Given the description of an element on the screen output the (x, y) to click on. 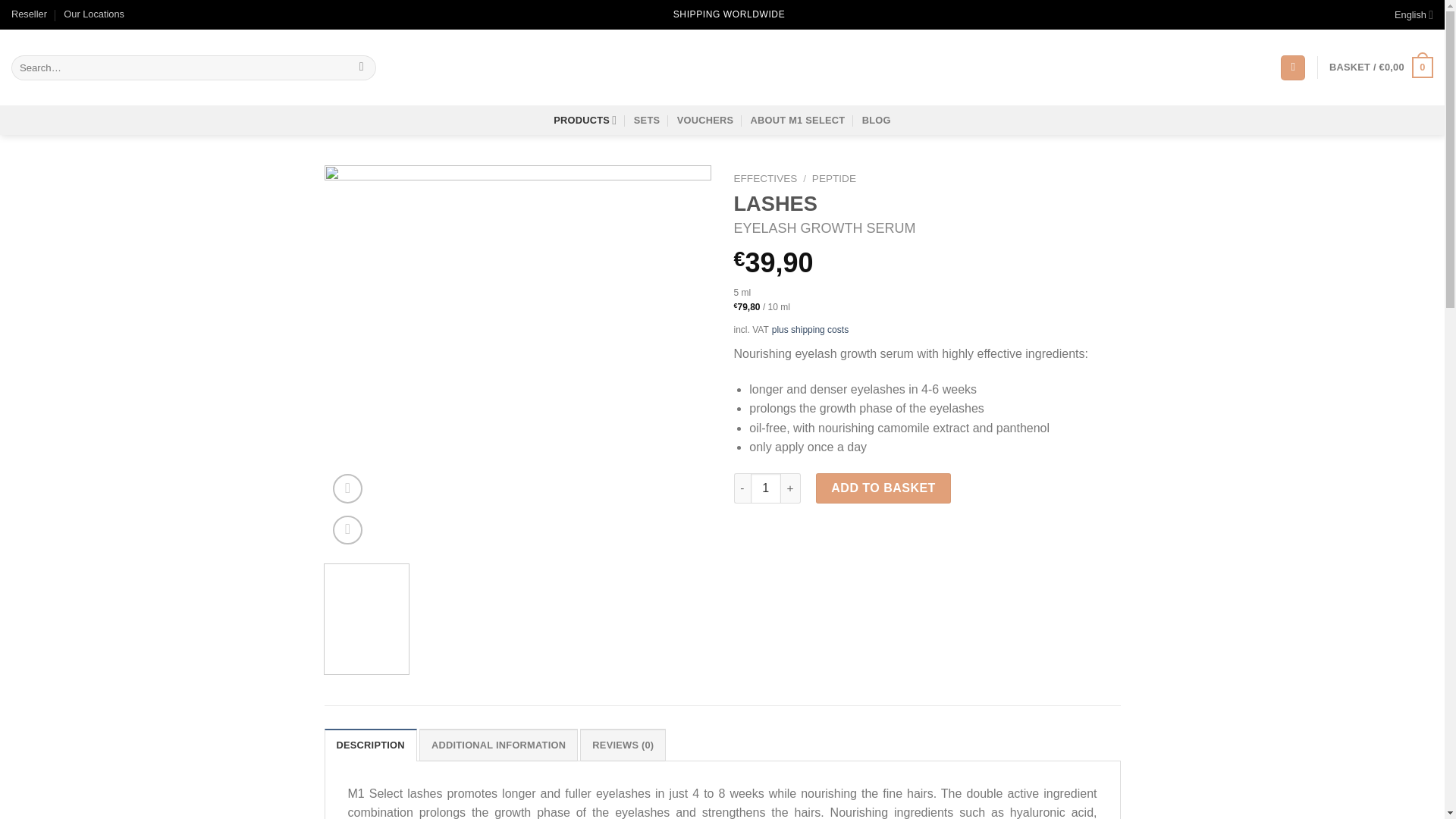
Video (347, 488)
Basket (1380, 66)
English (1413, 14)
M1 SELECT - High quality cosmetic care products (721, 67)
Reseller (28, 14)
Our Locations (93, 14)
1 (765, 488)
Zoom (347, 530)
Search (361, 67)
PRODUCTS (584, 120)
